Given the description of an element on the screen output the (x, y) to click on. 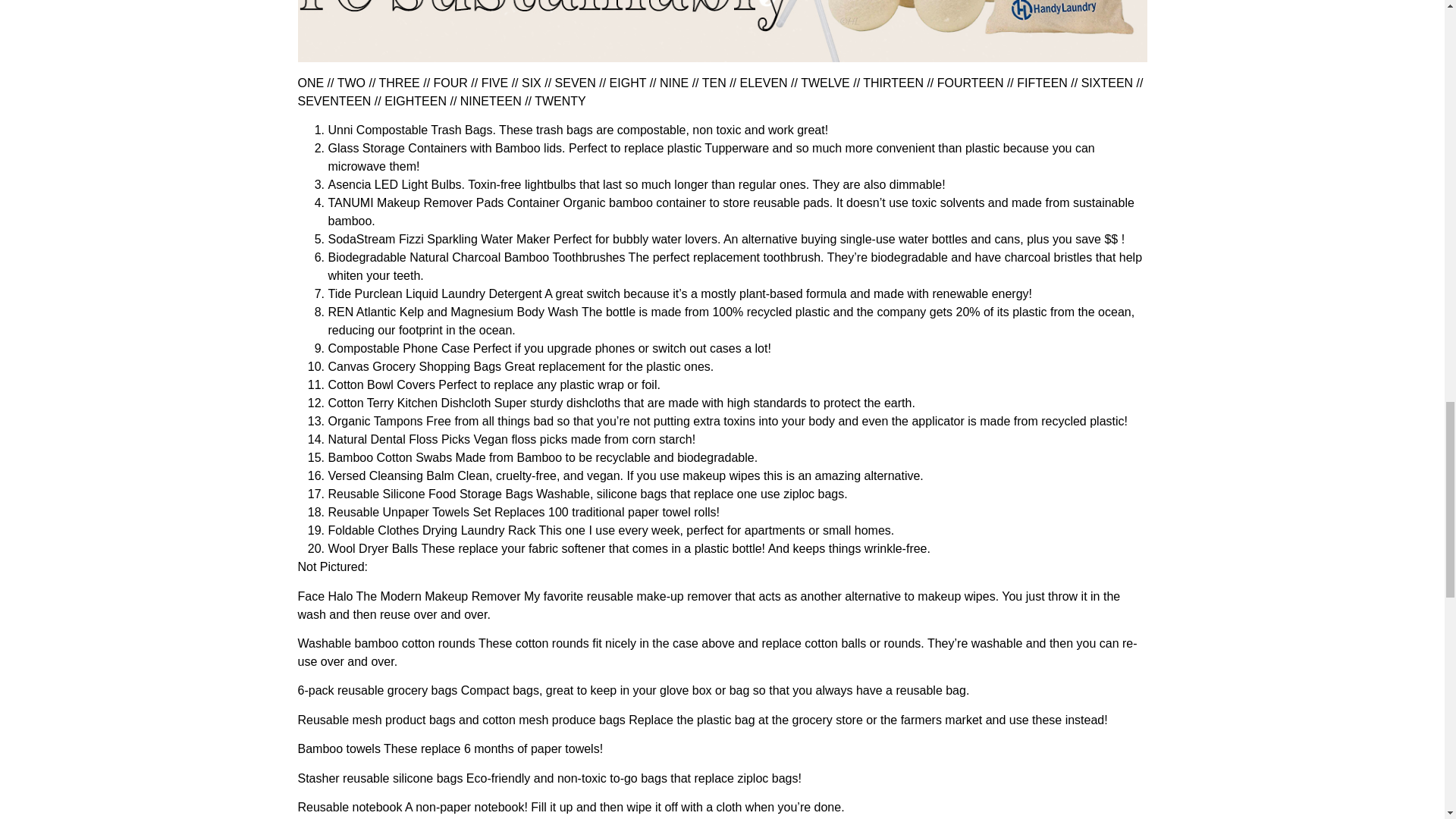
SEVEN (574, 82)
THIRTEEN (893, 82)
FIVE (494, 82)
TWELVE (825, 82)
SEVENTEEN (334, 101)
TANUMI Makeup Remover Pads Container (443, 202)
TWO (351, 82)
EIGHTEEN (415, 101)
Glass Storage Containers with Bamboo lids (444, 147)
NINETEEN (490, 101)
THREE (399, 82)
FIFTEEN (1041, 82)
Unni Compostable Trash Bags (409, 129)
EIGHT (628, 82)
Asencia LED Light Bulbs. (395, 184)
